Given the description of an element on the screen output the (x, y) to click on. 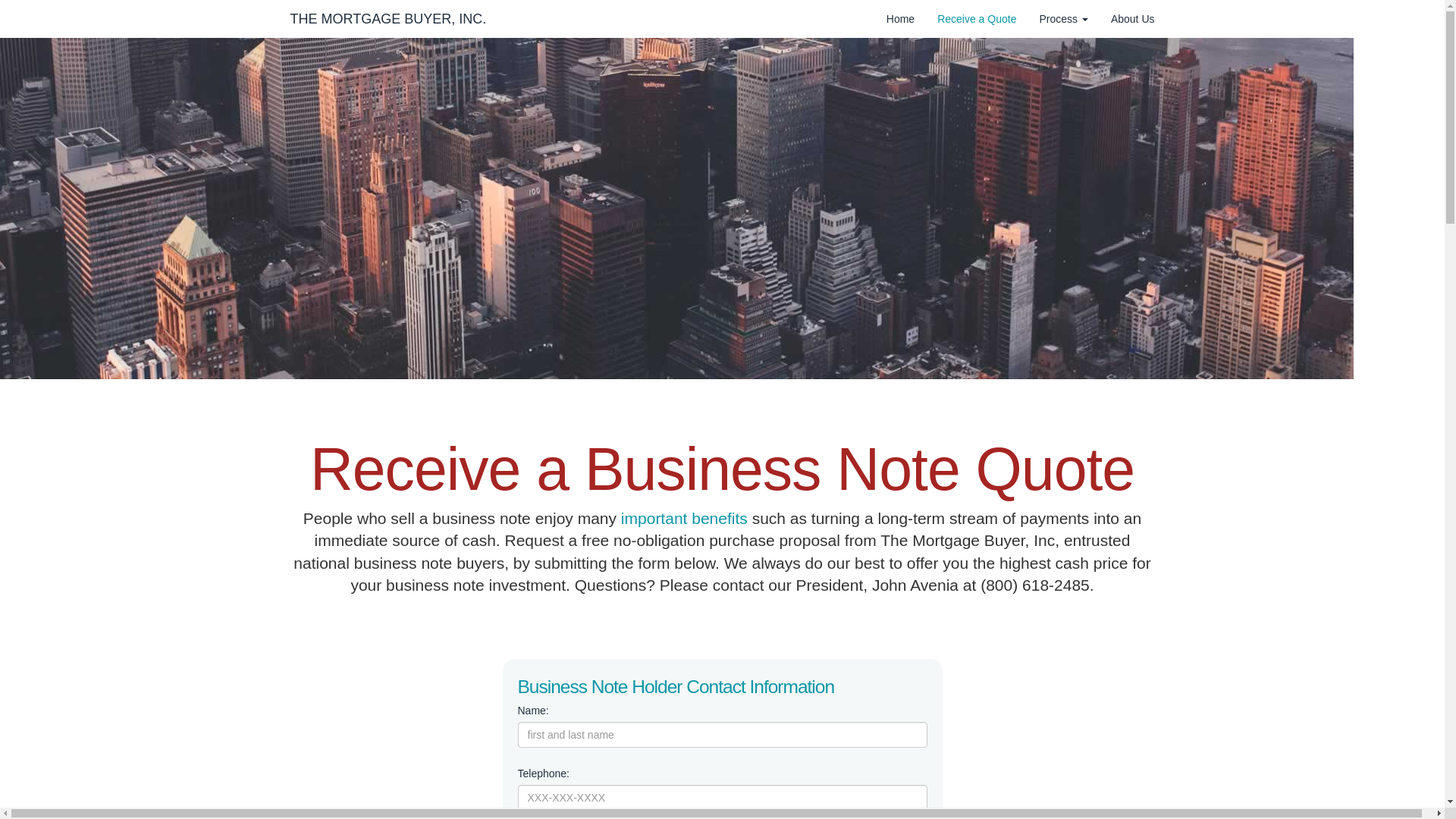
Process (1063, 18)
THE MORTGAGE BUYER, INC. (388, 18)
reasons to sell a business note (684, 518)
Home (900, 18)
Receive a Quote (976, 18)
important benefits (684, 518)
About Us (1132, 18)
